Given the description of an element on the screen output the (x, y) to click on. 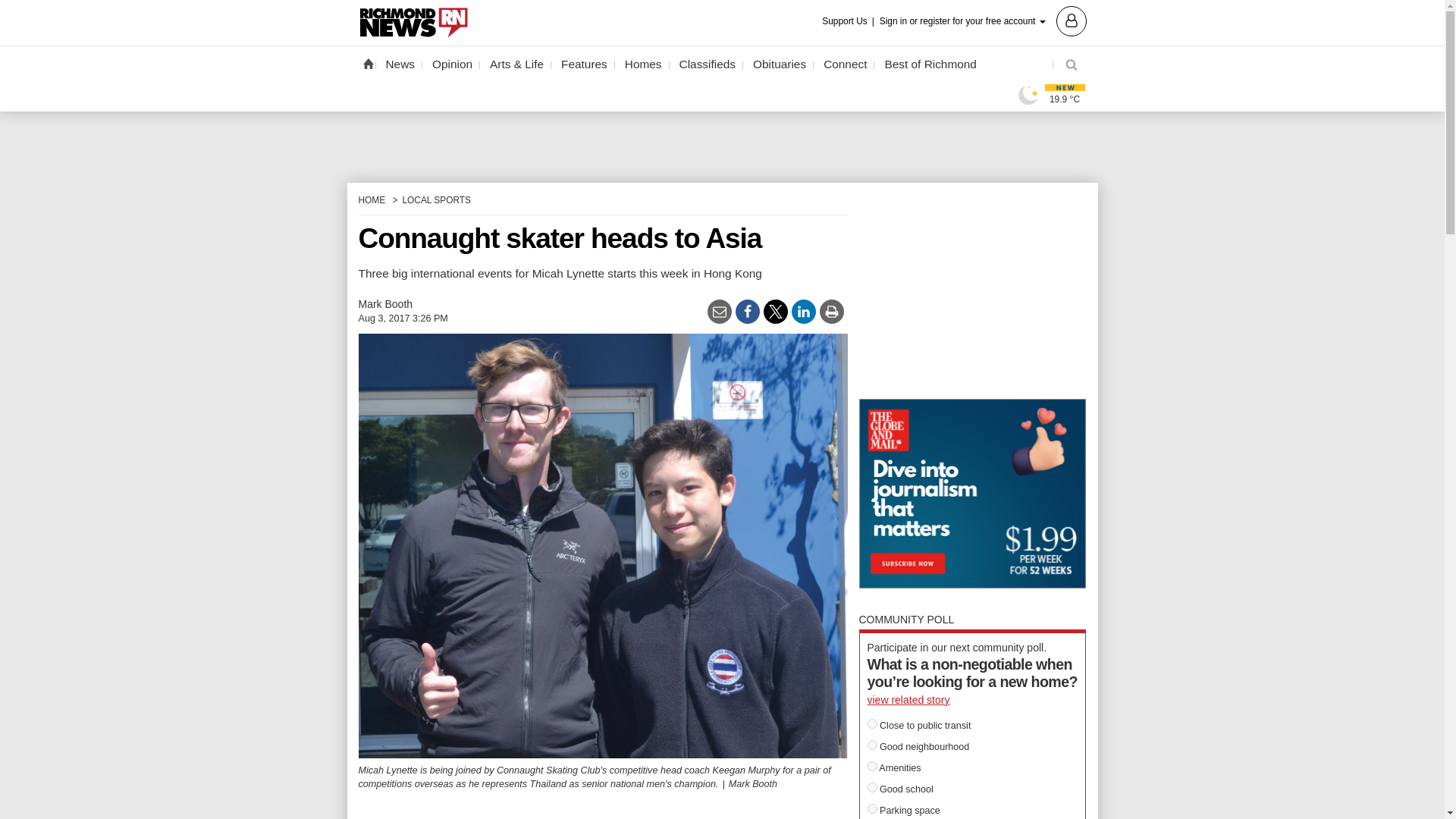
121754 (872, 723)
121755 (872, 745)
121756 (872, 766)
News (400, 64)
121760 (872, 787)
Home (367, 63)
Sign in or register for your free account (982, 20)
Support Us (849, 21)
Opinion (452, 64)
121757 (872, 808)
